Given the description of an element on the screen output the (x, y) to click on. 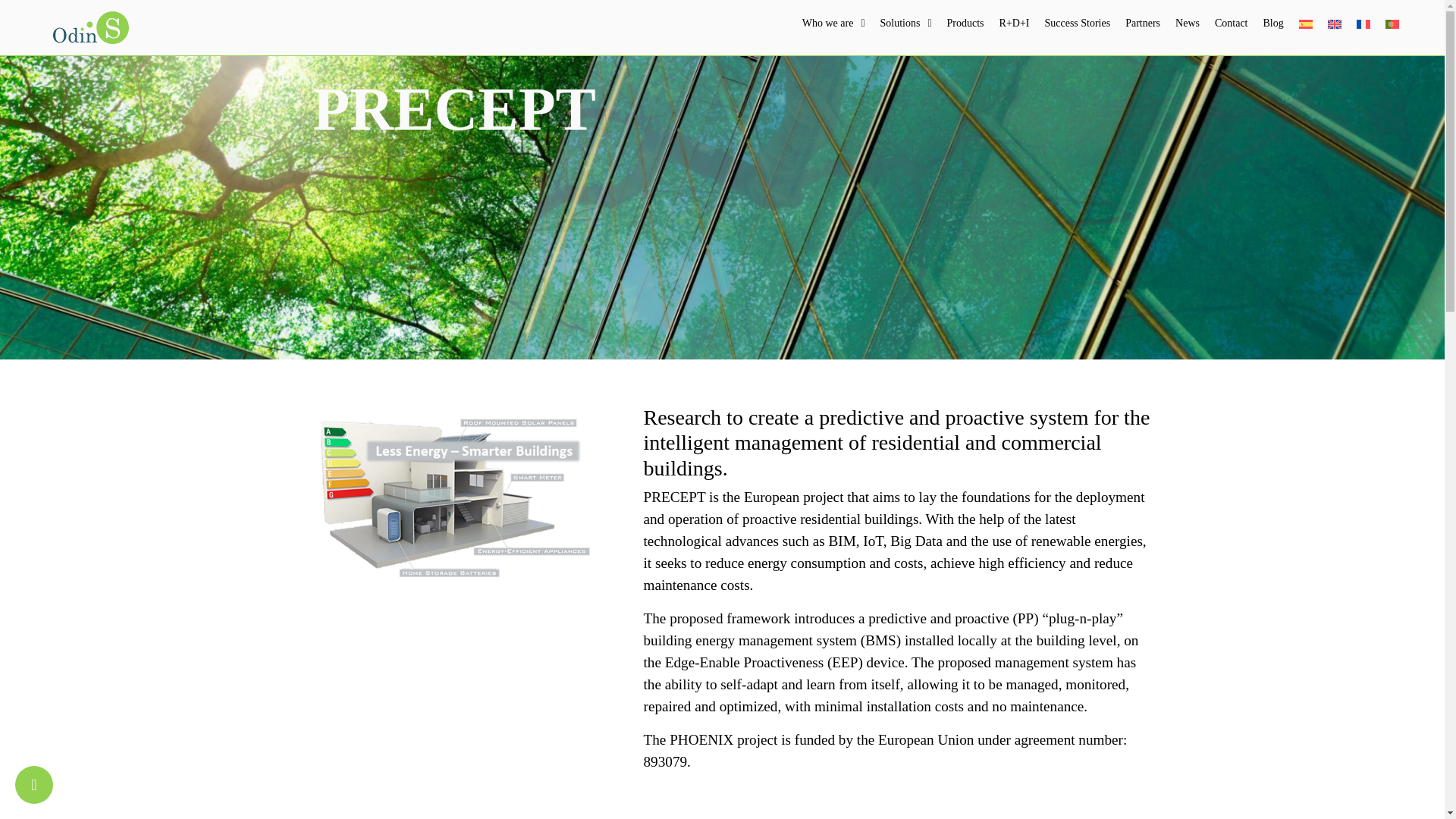
Contact (1231, 22)
Blog (1273, 22)
Who we are (833, 22)
Partners (1142, 22)
logo (90, 27)
Products (965, 22)
News (1187, 22)
Success Stories (1077, 22)
Solutions (905, 22)
